Given the description of an element on the screen output the (x, y) to click on. 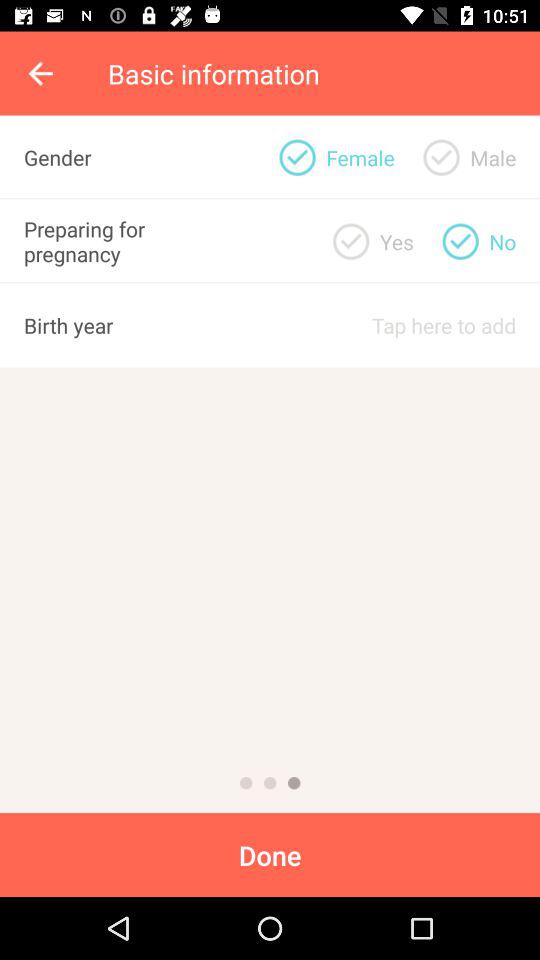
checkbox indicating no (460, 241)
